Given the description of an element on the screen output the (x, y) to click on. 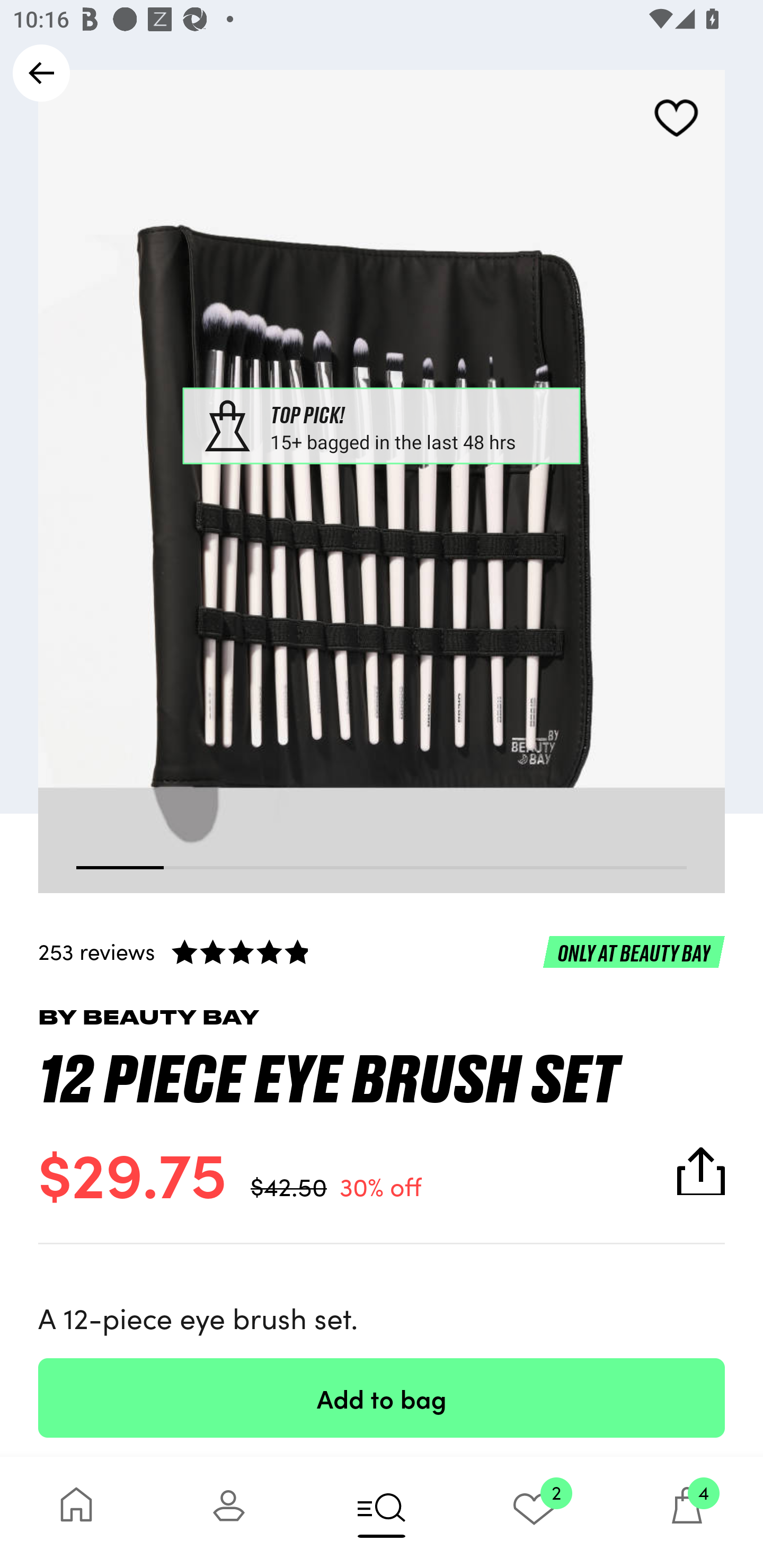
253 reviews (381, 950)
Add to bag (381, 1397)
2 (533, 1512)
4 (686, 1512)
